Given the description of an element on the screen output the (x, y) to click on. 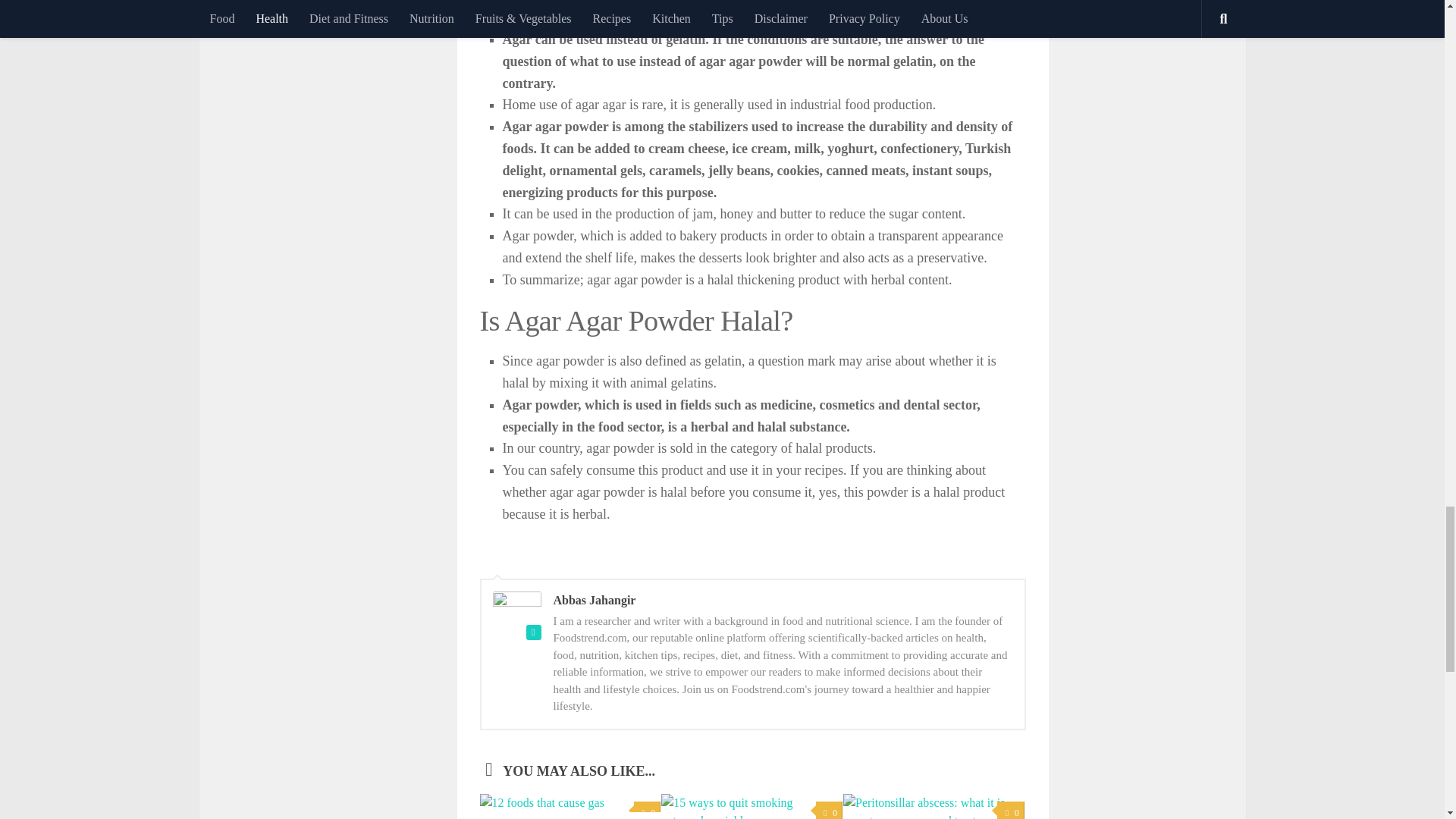
0 (647, 810)
